Given the description of an element on the screen output the (x, y) to click on. 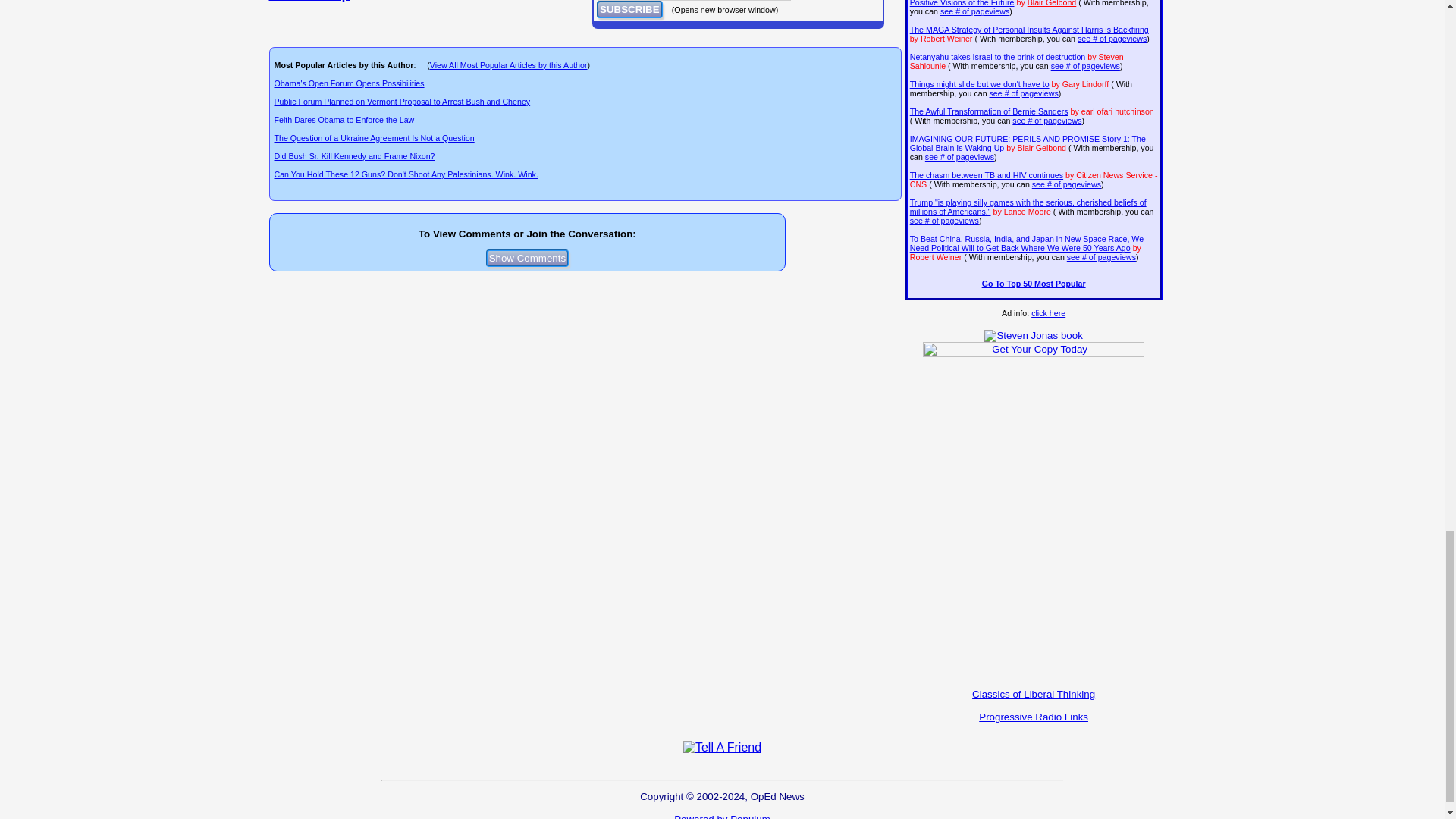
Show Comments (527, 257)
SUBSCRIBE (629, 9)
